Given the description of an element on the screen output the (x, y) to click on. 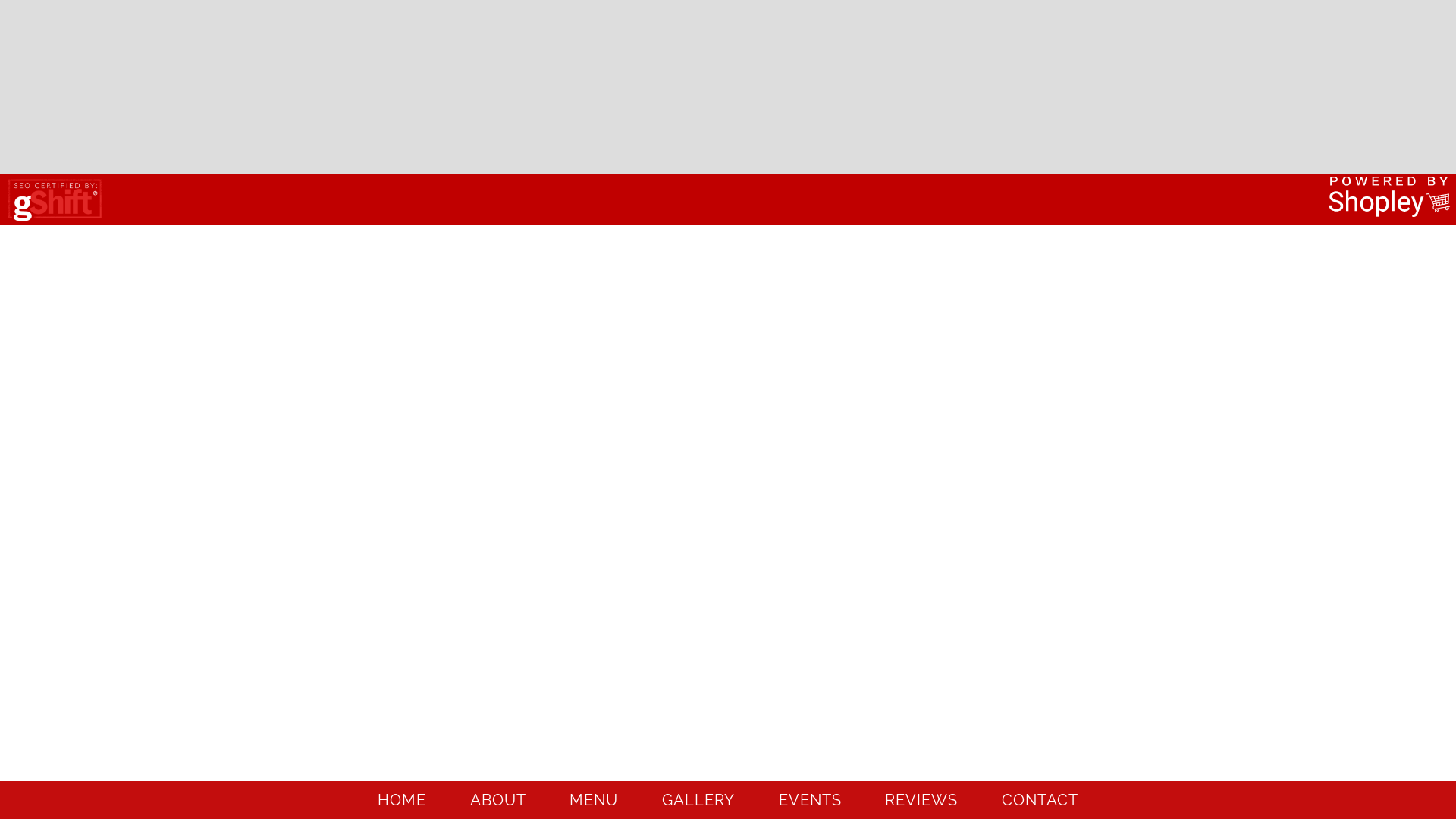
EVENTS Element type: text (809, 801)
GALLERY Element type: text (698, 801)
MENU Element type: text (593, 801)
ABOUT Element type: text (498, 801)
HOME Element type: text (401, 801)
CONTACT Element type: text (1039, 801)
REVIEWS Element type: text (920, 801)
